Given the description of an element on the screen output the (x, y) to click on. 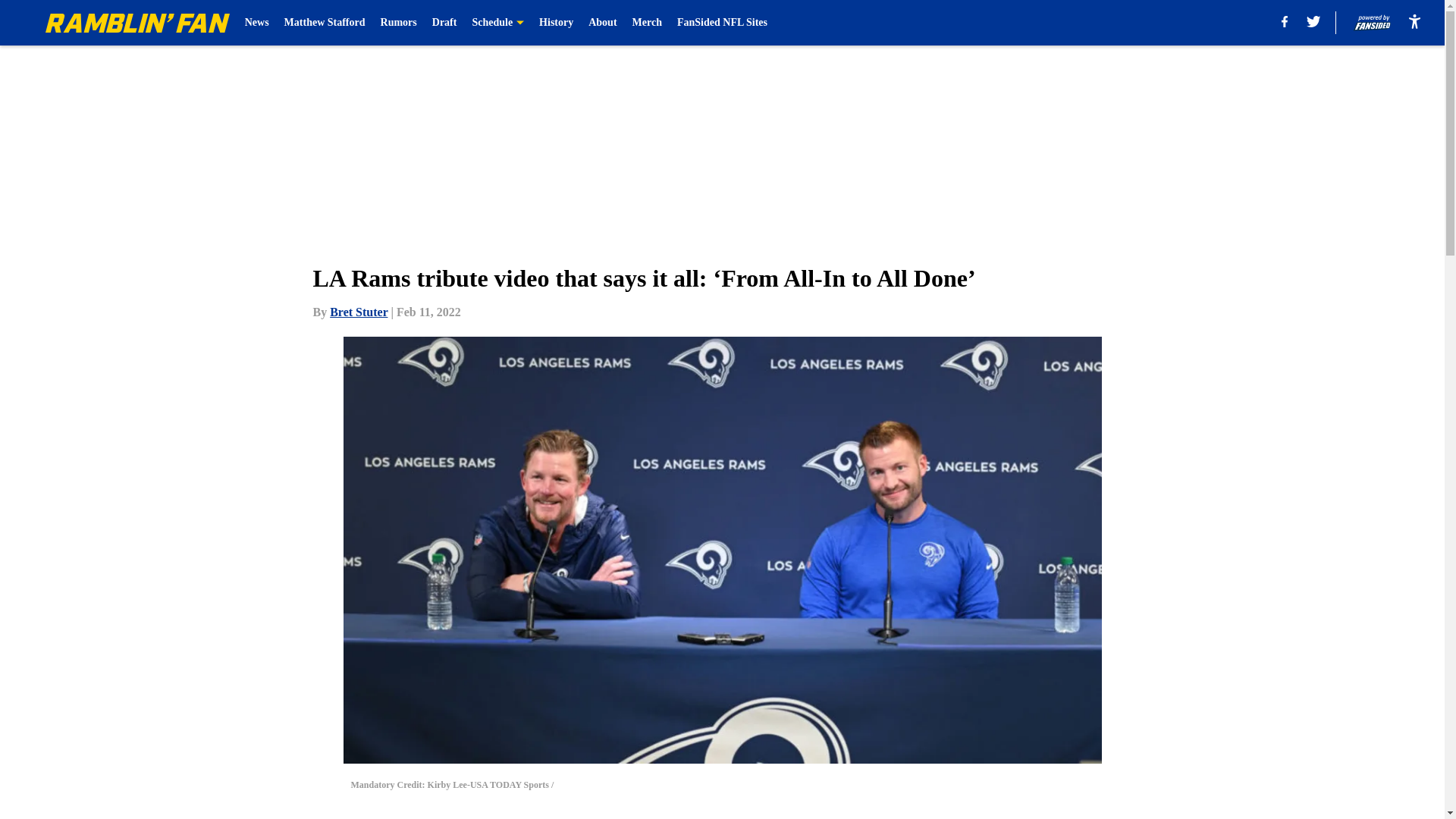
Bret Stuter (358, 311)
News (256, 22)
History (555, 22)
Rumors (398, 22)
FanSided NFL Sites (722, 22)
About (601, 22)
Matthew Stafford (324, 22)
Merch (646, 22)
Draft (444, 22)
